Given the description of an element on the screen output the (x, y) to click on. 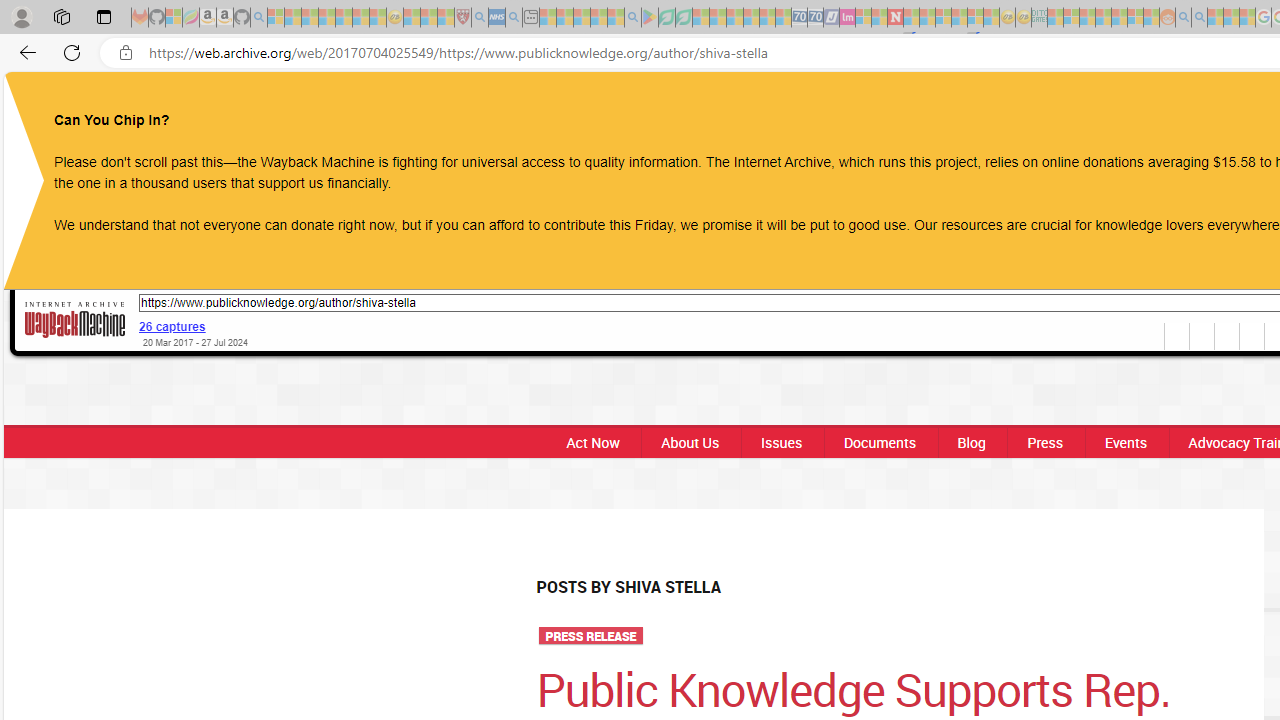
26 captures (172, 326)
utah sues federal government - Search - Sleeping (513, 17)
Issues (781, 442)
Public Knowledge (649, 106)
Events (1125, 442)
About Us (689, 442)
